Given the description of an element on the screen output the (x, y) to click on. 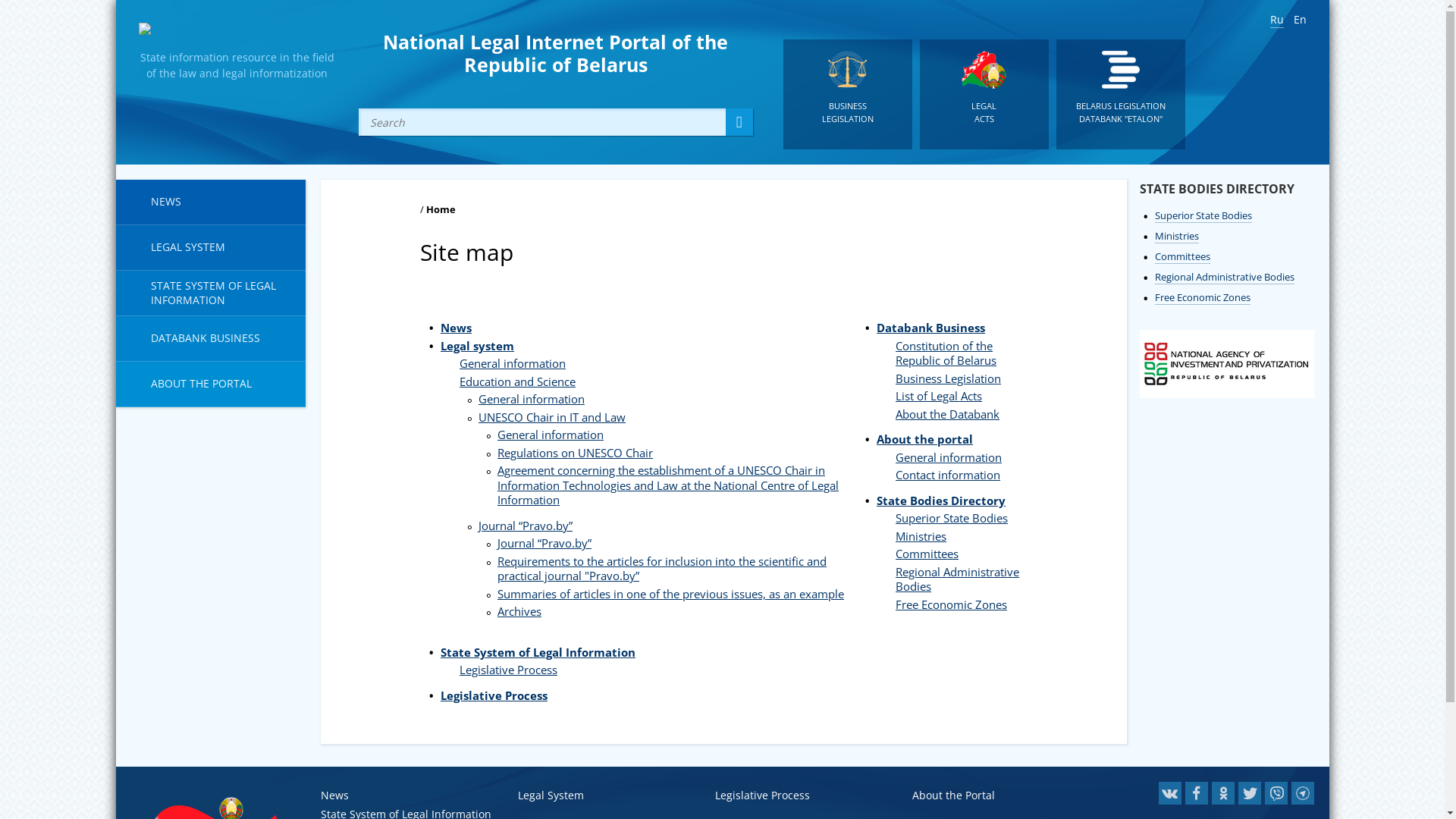
STATE SYSTEM OF LEGAL INFORMATION Element type: text (209, 293)
Regional Administrative Bodies Element type: text (957, 579)
General information Element type: text (550, 434)
News Element type: text (334, 794)
UNESCO Chair in IT and Law Element type: text (551, 416)
Legislative Process Element type: text (493, 694)
General information Element type: text (531, 398)
About the Databank Element type: text (947, 413)
Legislative Process Element type: text (761, 794)
Archives Element type: text (519, 610)
State Bodies Directory Element type: text (940, 500)
About the Portal Element type: text (952, 794)
BUSINESS
LEGISLATION Element type: text (846, 94)
Contact information Element type: text (947, 474)
Education and Science Element type: text (517, 381)
Constitution of the Republic of Belarus Element type: text (945, 353)
Legal System Element type: text (550, 794)
General information Element type: text (948, 456)
Committees Element type: text (1181, 256)
State System of Legal Information Element type: text (537, 651)
DATABANK BUSINESS Element type: text (209, 338)
En Element type: text (1299, 19)
Ministries Element type: text (920, 535)
Committees Element type: text (926, 553)
LEGAL SYSTEM Element type: text (209, 247)
Free Economic Zones Element type: text (1201, 297)
LEGAL
ACTS Element type: text (983, 94)
NEWS Element type: text (209, 202)
ABOUT THE PORTAL Element type: text (209, 384)
Superior State Bodies Element type: text (1202, 215)
Superior State Bodies Element type: text (951, 517)
Free Economic Zones Element type: text (951, 603)
News Element type: text (455, 327)
List of Legal Acts Element type: text (938, 395)
Databank Business Element type: text (930, 327)
General information Element type: text (512, 362)
Legal system Element type: text (477, 345)
Regulations on UNESCO Chair Element type: text (574, 452)
BELARUS LEGISLATION
DATABANK "ETALON" Element type: text (1119, 94)
Ministries Element type: text (1176, 236)
Regional Administrative Bodies Element type: text (1223, 276)
Legislative Process Element type: text (508, 669)
National Agency of Investment And Privatization Element type: hover (1226, 394)
Business Legislation Element type: text (948, 377)
About the portal Element type: text (924, 438)
Ru Element type: text (1276, 19)
